Given the description of an element on the screen output the (x, y) to click on. 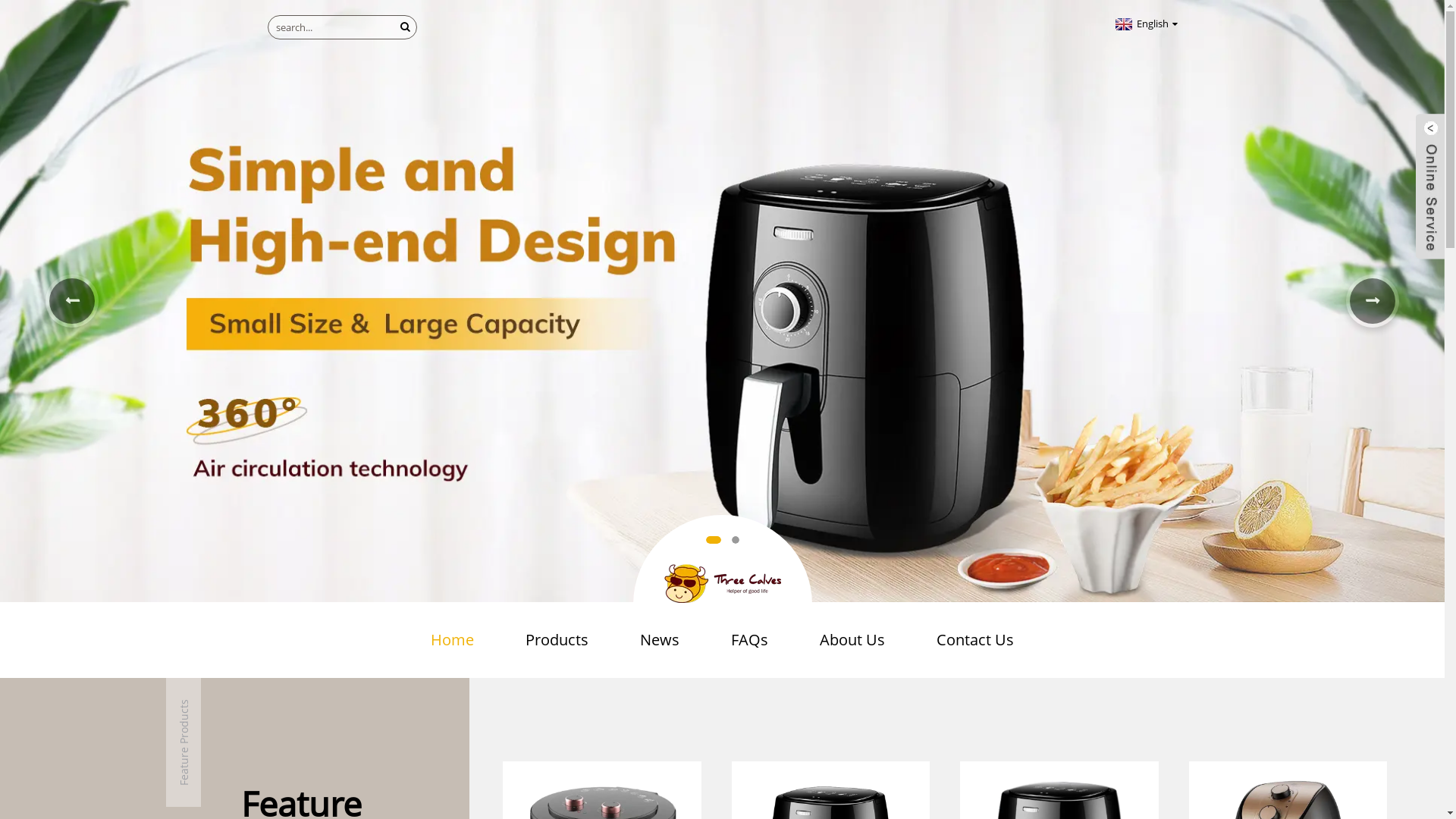
FAQs Element type: text (749, 639)
Products Element type: text (556, 639)
Contact Us Element type: text (974, 639)
English Element type: text (1144, 23)
Home Element type: text (451, 639)
About Us Element type: text (851, 639)
News Element type: text (659, 639)
